Given the description of an element on the screen output the (x, y) to click on. 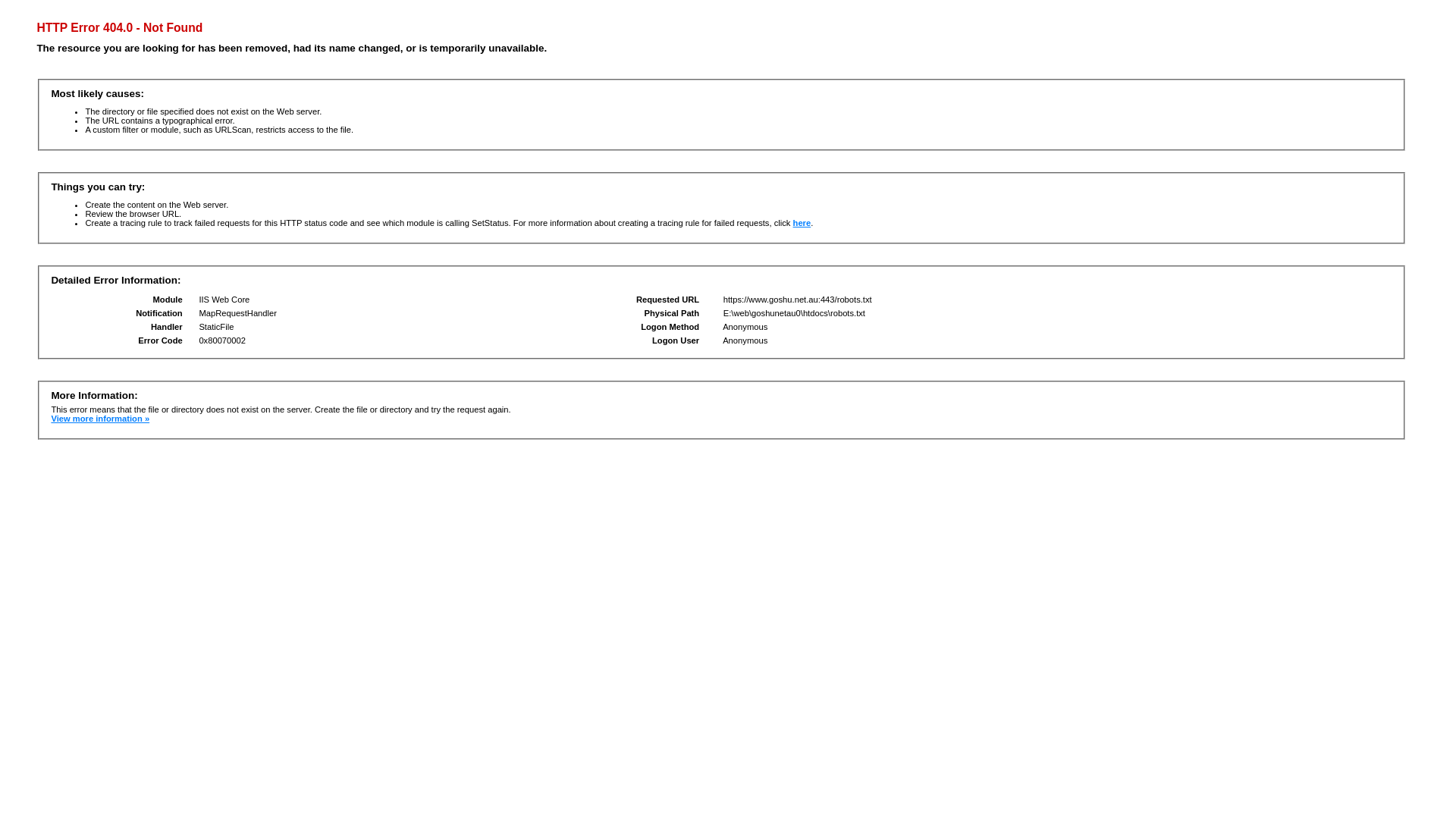
here Element type: text (802, 222)
